Given the description of an element on the screen output the (x, y) to click on. 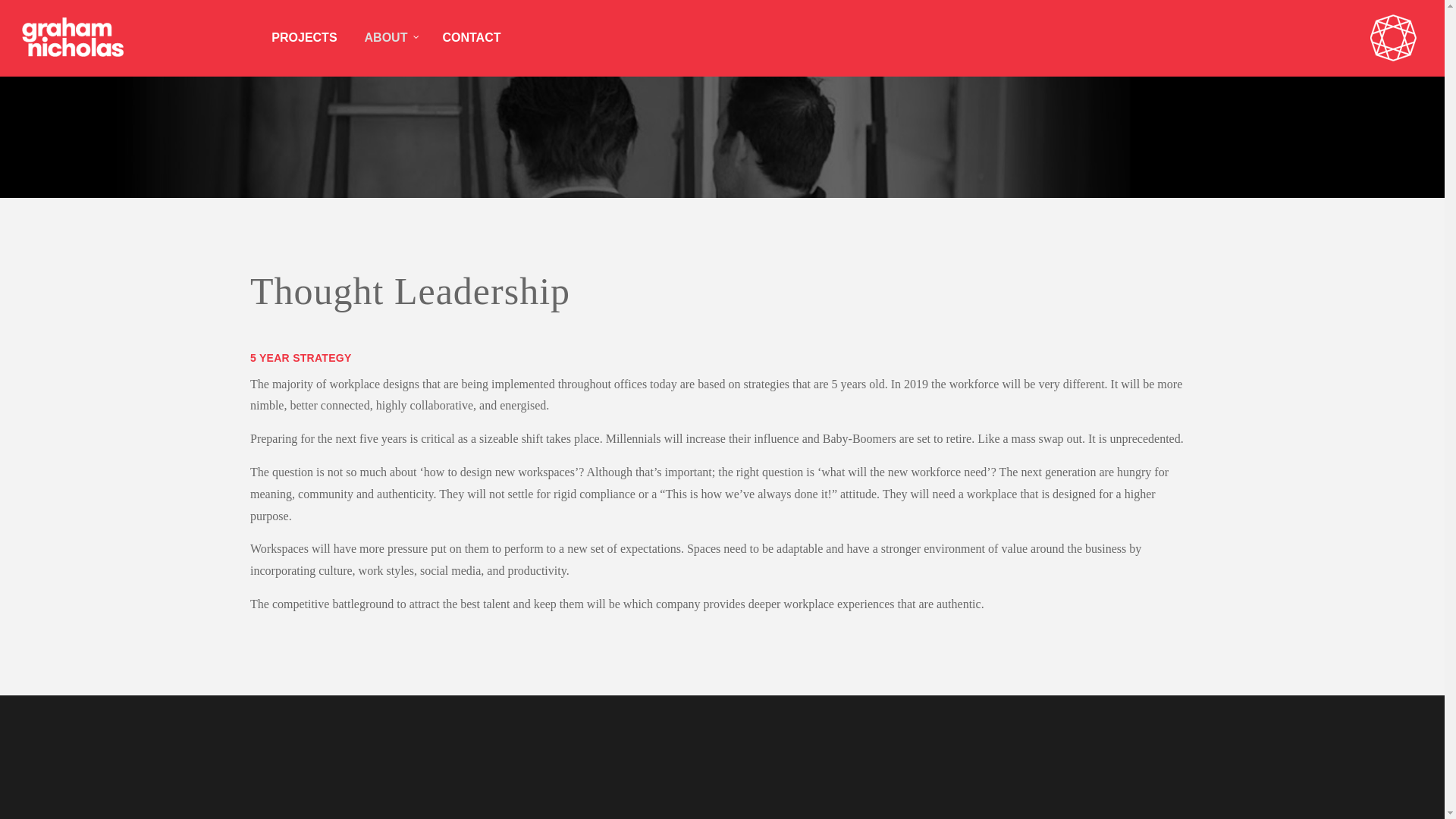
PROJECTS Element type: text (303, 37)
ABOUT Element type: text (389, 37)
CONTACT Element type: text (471, 37)
